Given the description of an element on the screen output the (x, y) to click on. 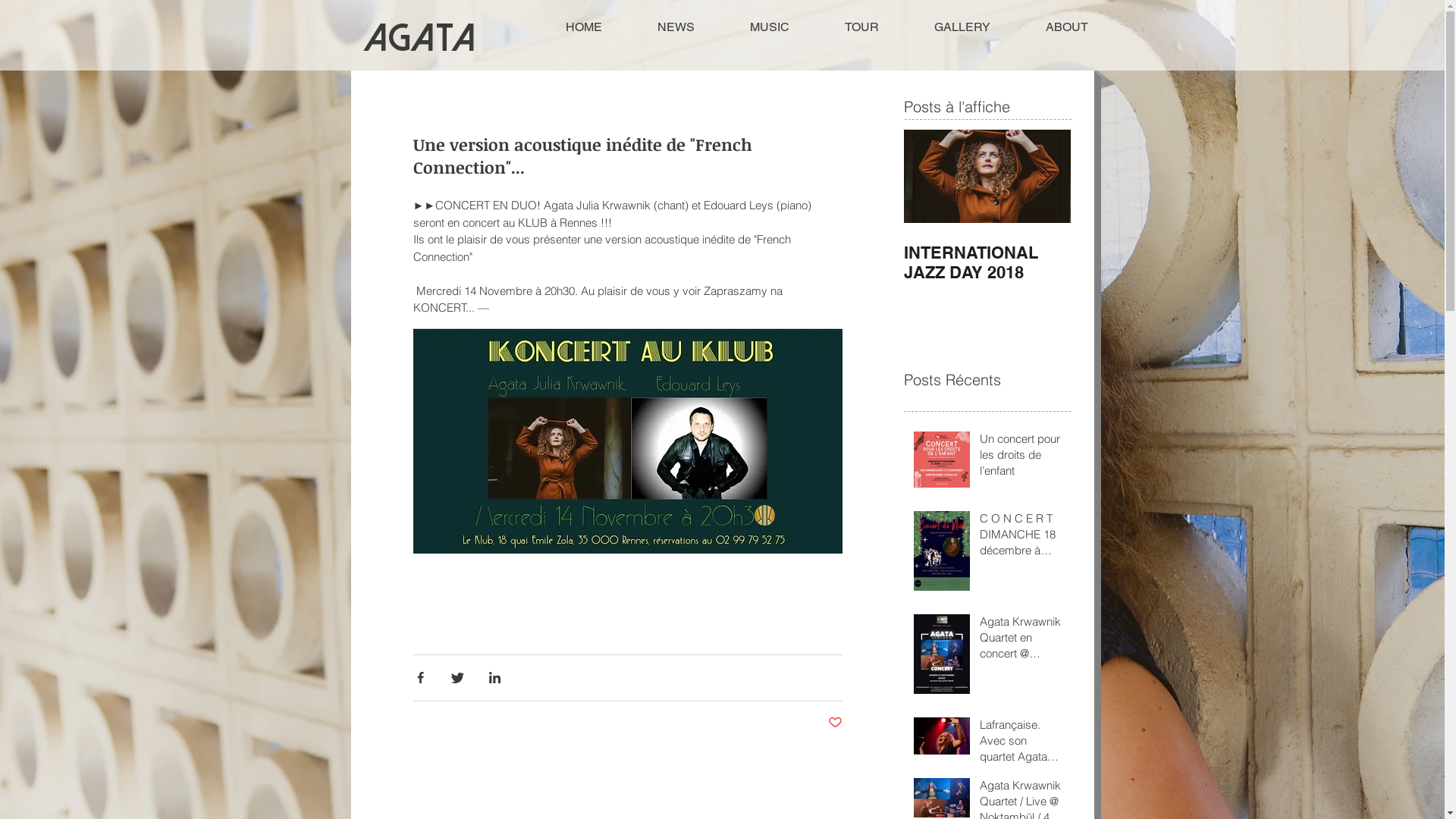
INTERNATIONAL JAZZ DAY 2018 Element type: text (986, 262)
MUSIC Element type: text (768, 26)
HOME Element type: text (582, 26)
AGATA Element type: text (418, 38)
STAGE DE CHANT avec AGATA Element type: text (1153, 262)
TOUR Element type: text (861, 26)
NEWS Element type: text (675, 26)
GALLERY Element type: text (962, 26)
ABOUT Element type: text (1066, 26)
